Given the description of an element on the screen output the (x, y) to click on. 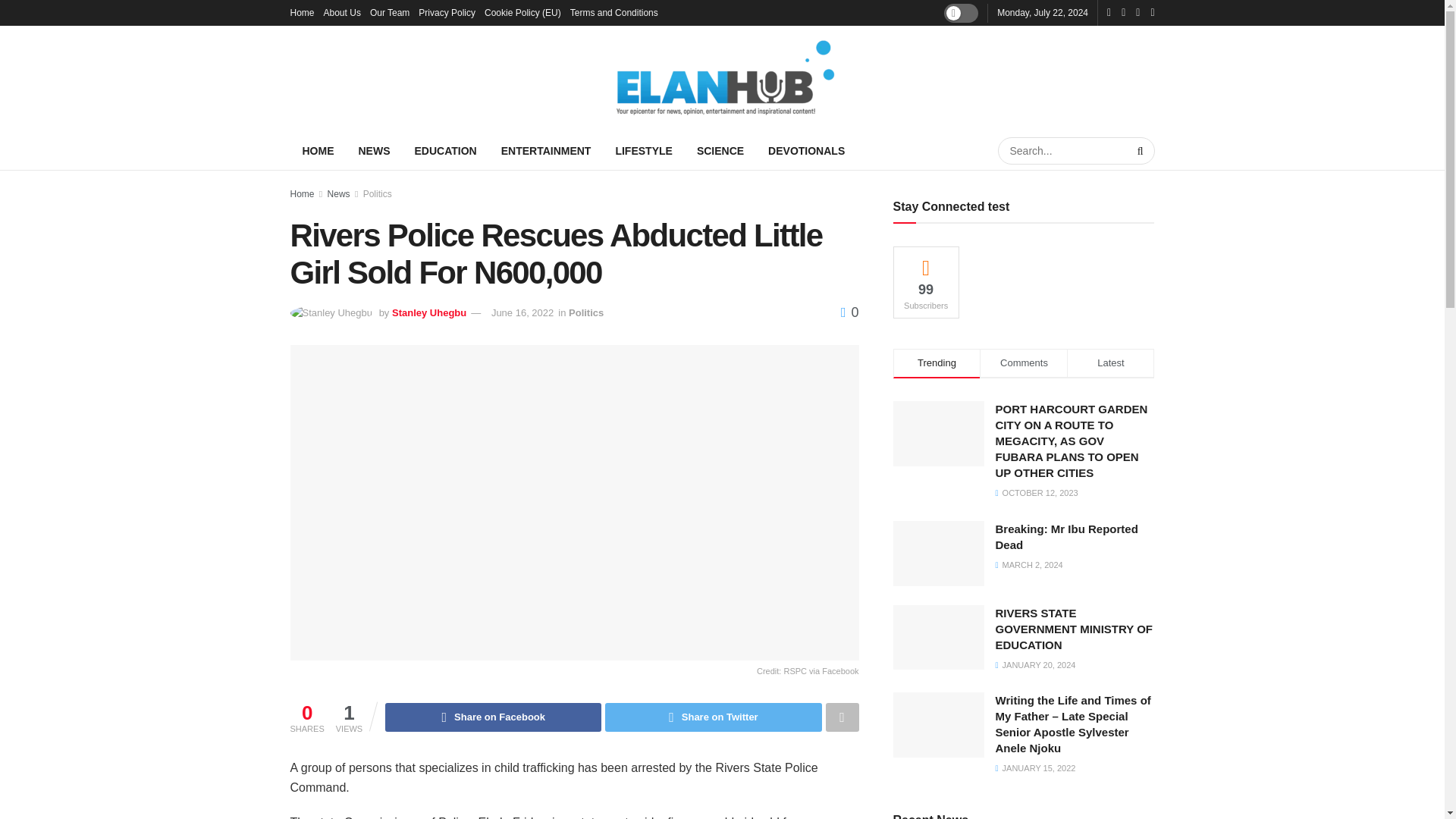
LIFESTYLE (643, 150)
Privacy Policy (447, 12)
Our Team (389, 12)
Terms and Conditions (614, 12)
About Us (342, 12)
DEVOTIONALS (806, 150)
EDUCATION (444, 150)
Home (301, 12)
ENTERTAINMENT (546, 150)
SCIENCE (719, 150)
HOME (317, 150)
NEWS (373, 150)
